Given the description of an element on the screen output the (x, y) to click on. 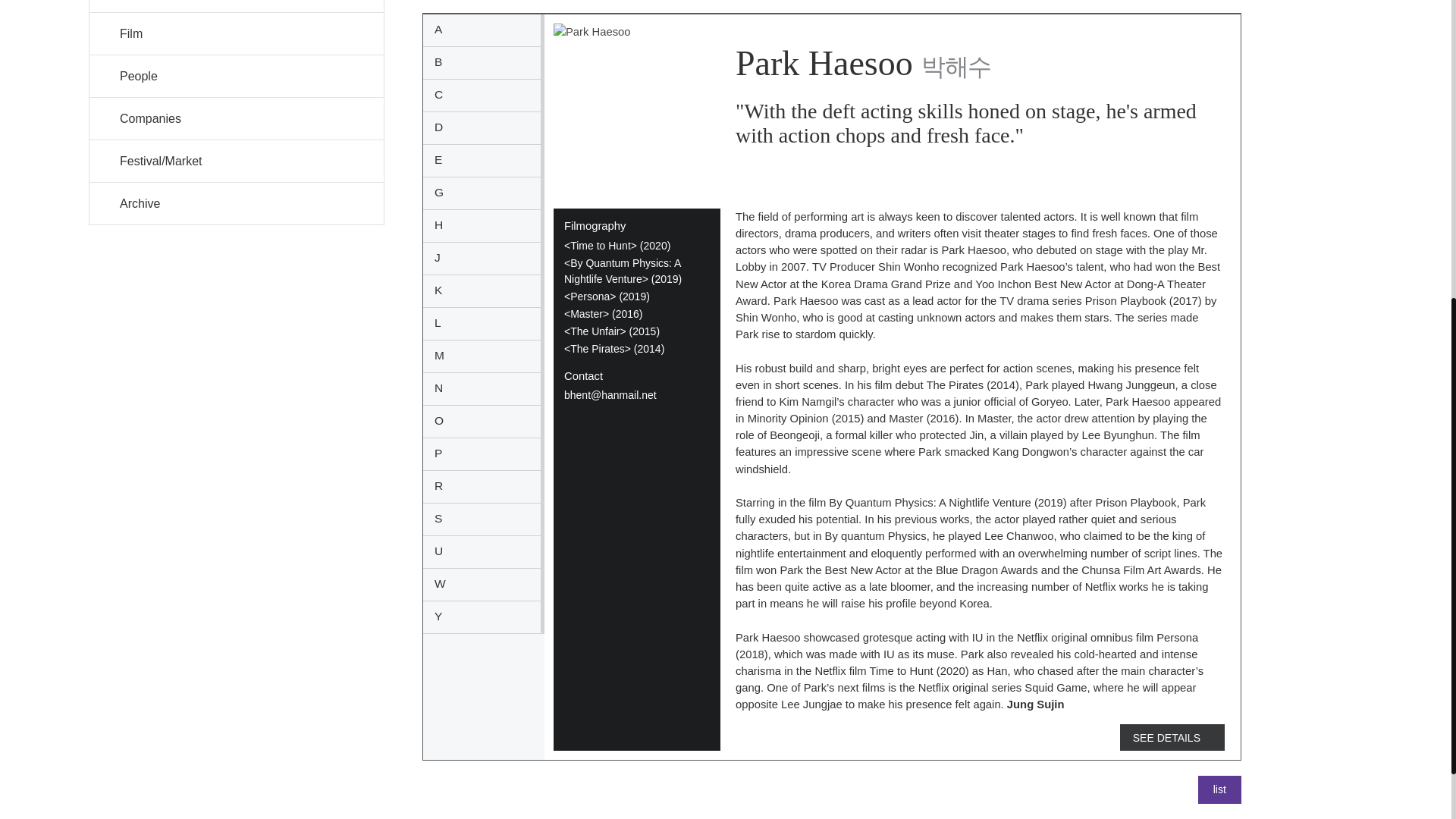
list (1219, 789)
SEE DETAILS (1171, 737)
